Given the description of an element on the screen output the (x, y) to click on. 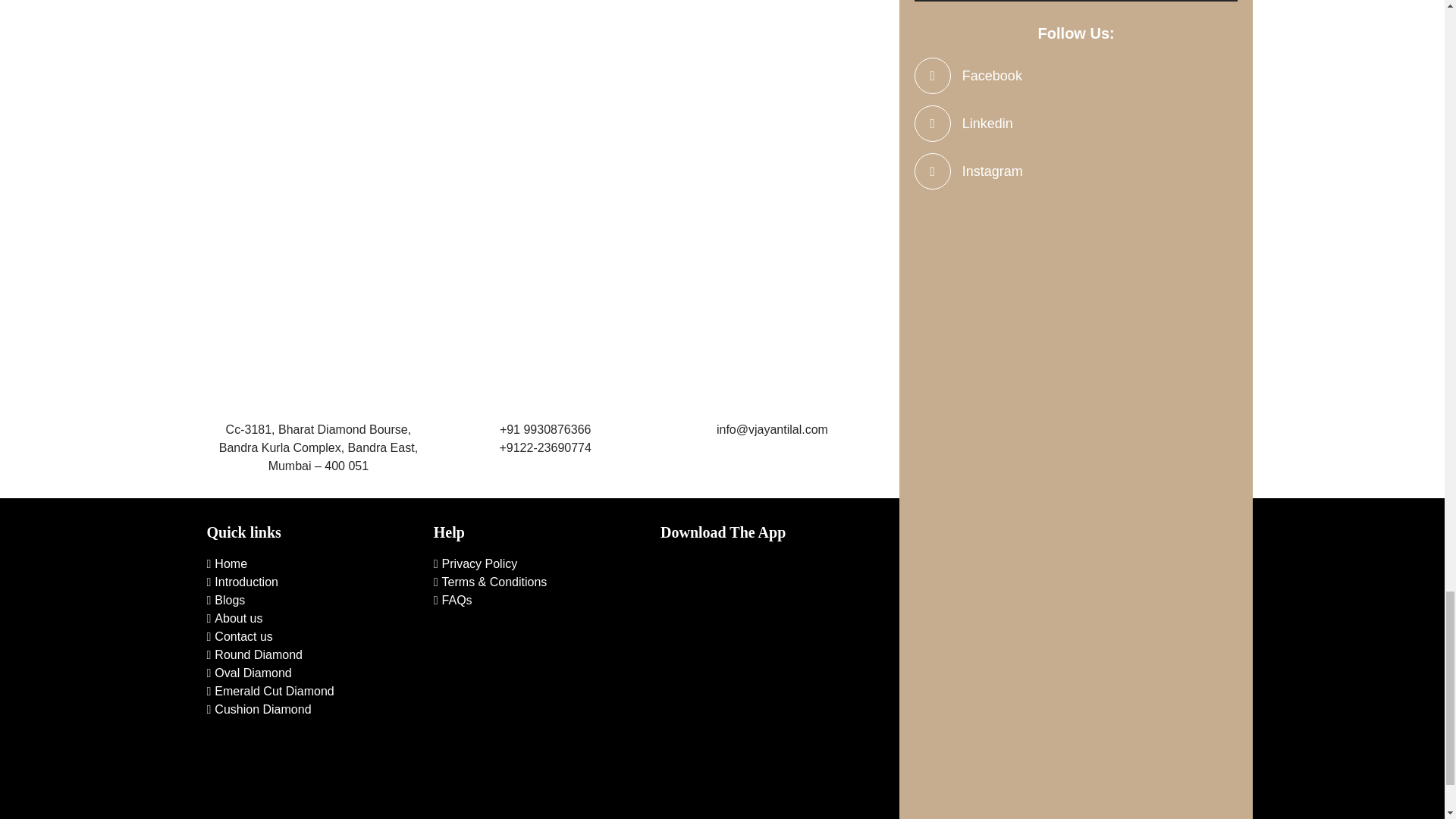
Emerald Cut Diamond (269, 690)
Home (226, 563)
Privacy Policy (474, 563)
Round Diamond (253, 654)
Blogs (225, 599)
Contact us (239, 635)
Oval Diamond (248, 672)
Introduction (242, 581)
About us (234, 617)
Cushion Diamond (258, 708)
